Given the description of an element on the screen output the (x, y) to click on. 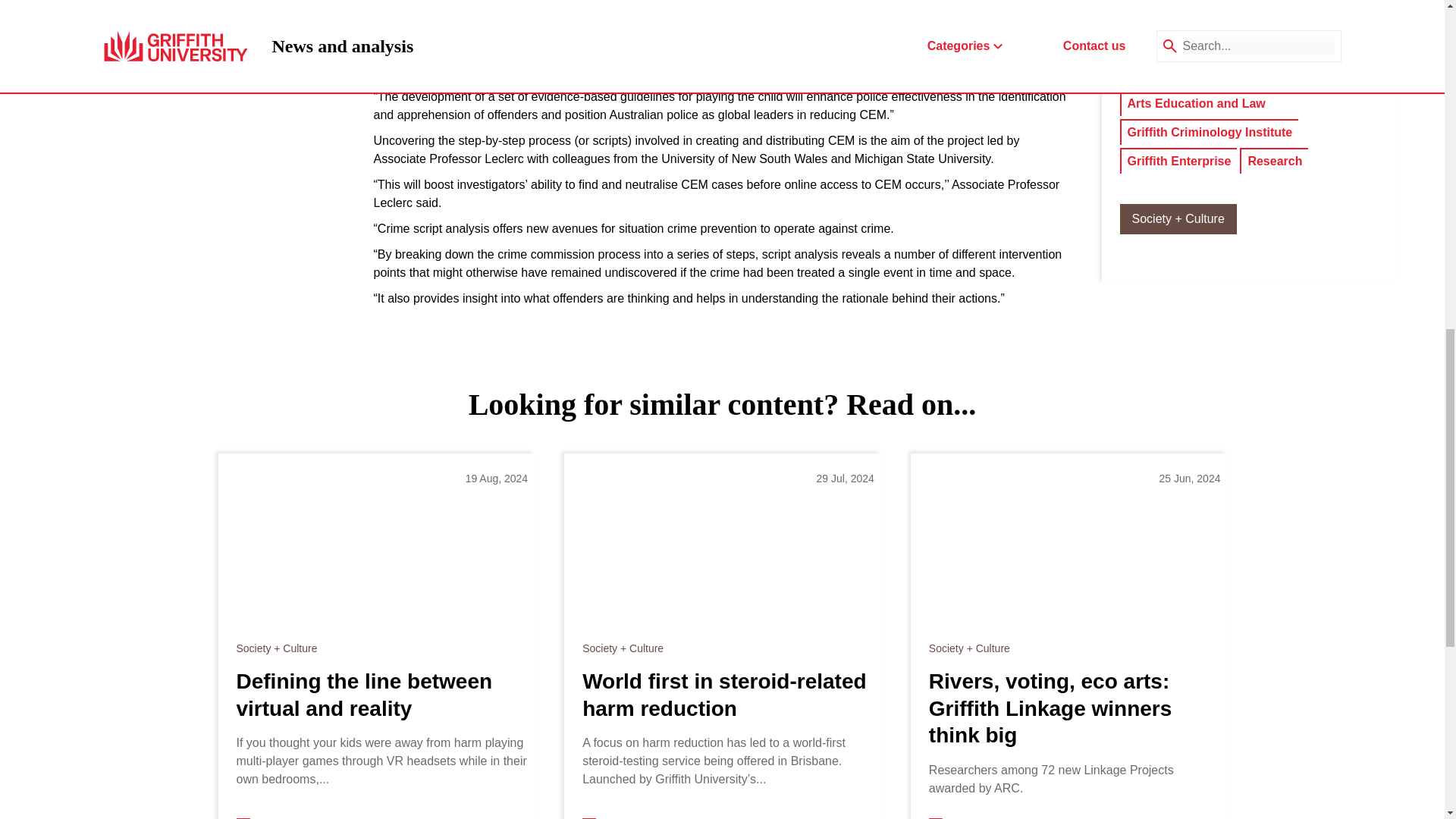
Read More (279, 817)
Defining the line between virtual and reality (381, 694)
Research (1274, 161)
Griffith Enterprise (1178, 161)
Griffith Criminology Institute (1209, 132)
Arts Education and Law (1195, 104)
